Given the description of an element on the screen output the (x, y) to click on. 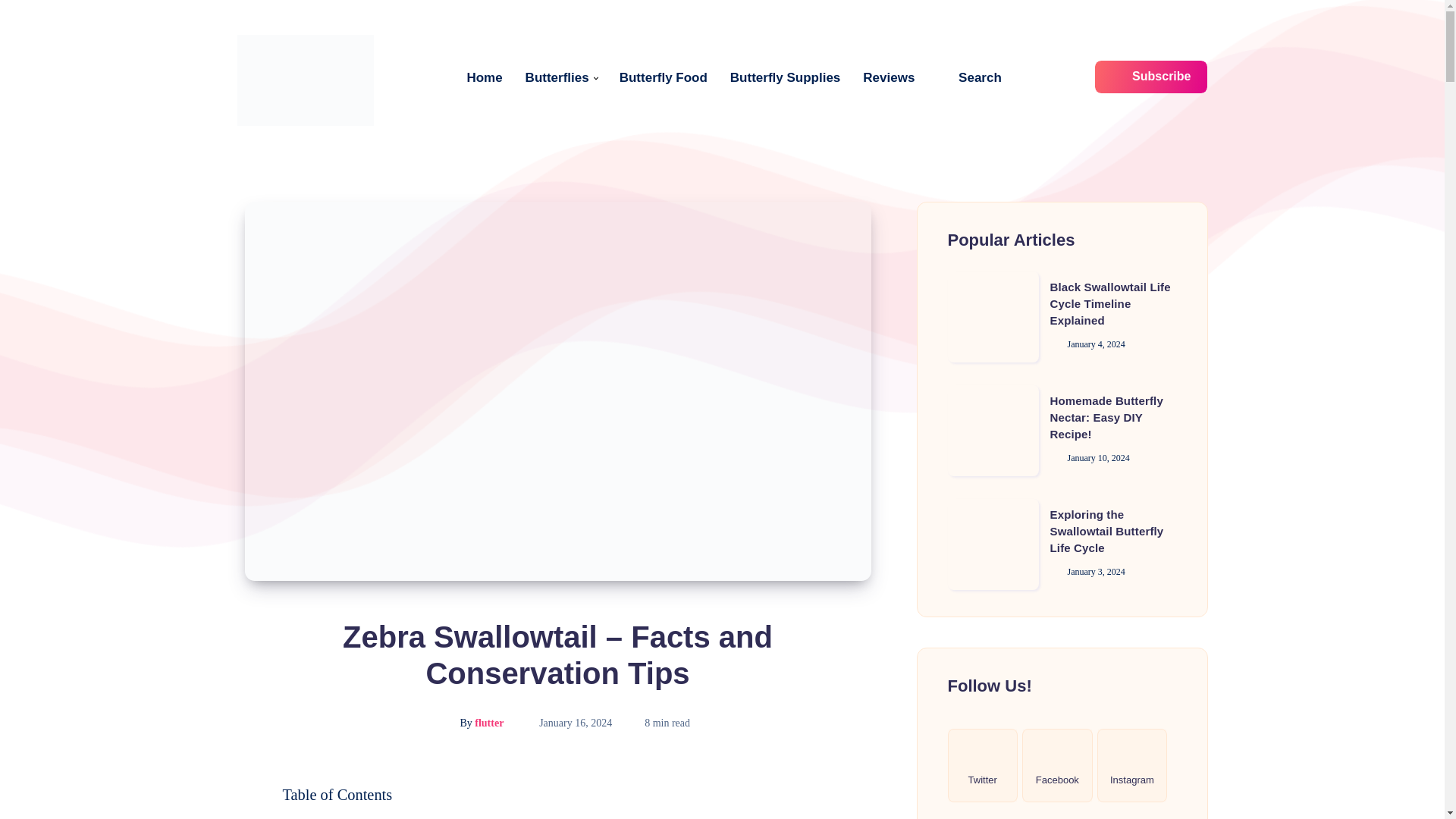
Share on Facebook (244, 792)
Home (483, 77)
Reviews (888, 77)
Butterfly Food (663, 77)
Butterfly Supplies (785, 77)
By flutter (465, 722)
Butterflies (557, 77)
Search (969, 77)
Share on Twitter (244, 815)
Subscribe (1151, 76)
